Given the description of an element on the screen output the (x, y) to click on. 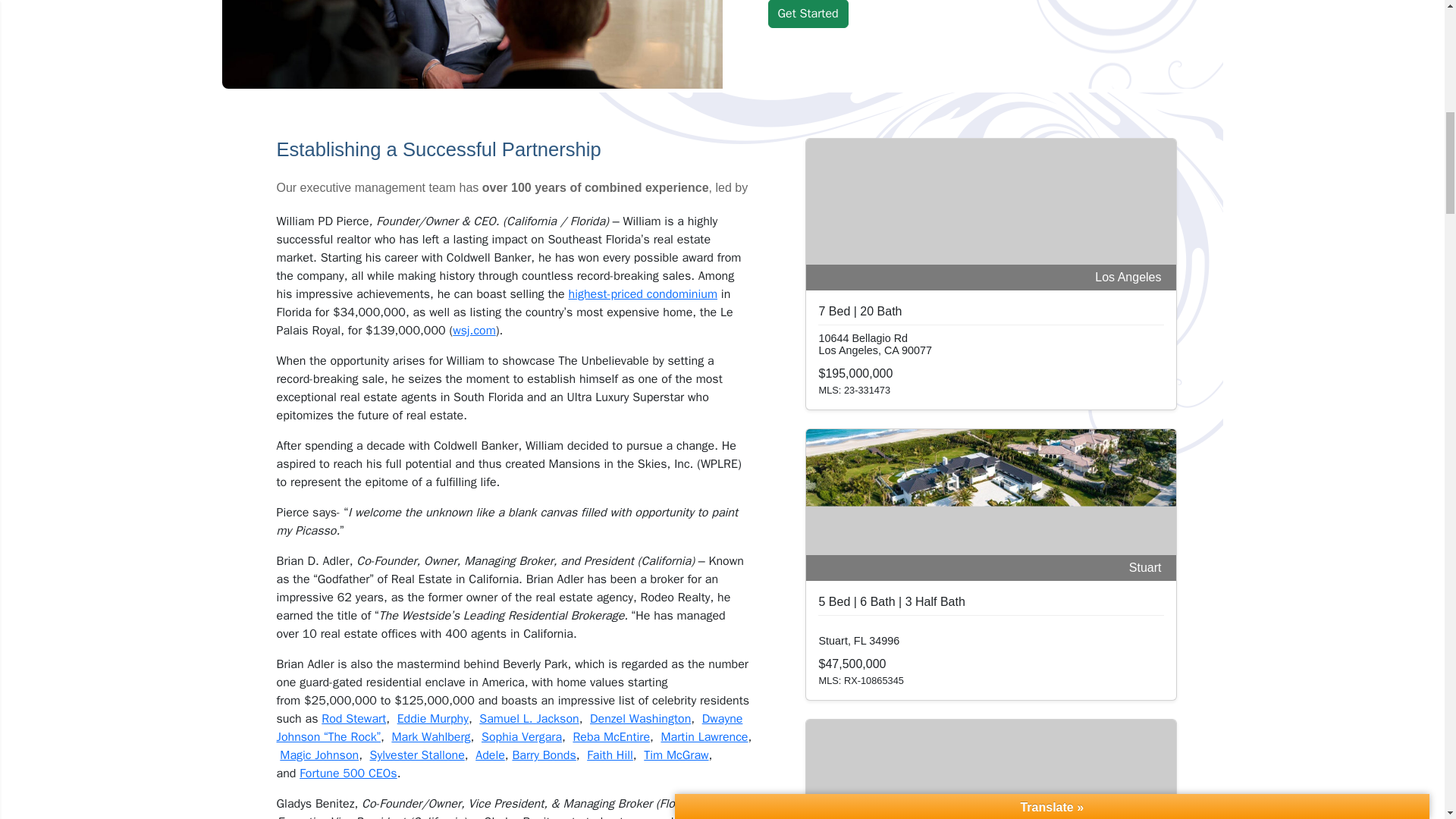
Rod Stewart (353, 718)
wsj.com (474, 330)
highest-priced condominium (643, 294)
Eddie Murphy (432, 718)
Get Started (807, 13)
